Given the description of an element on the screen output the (x, y) to click on. 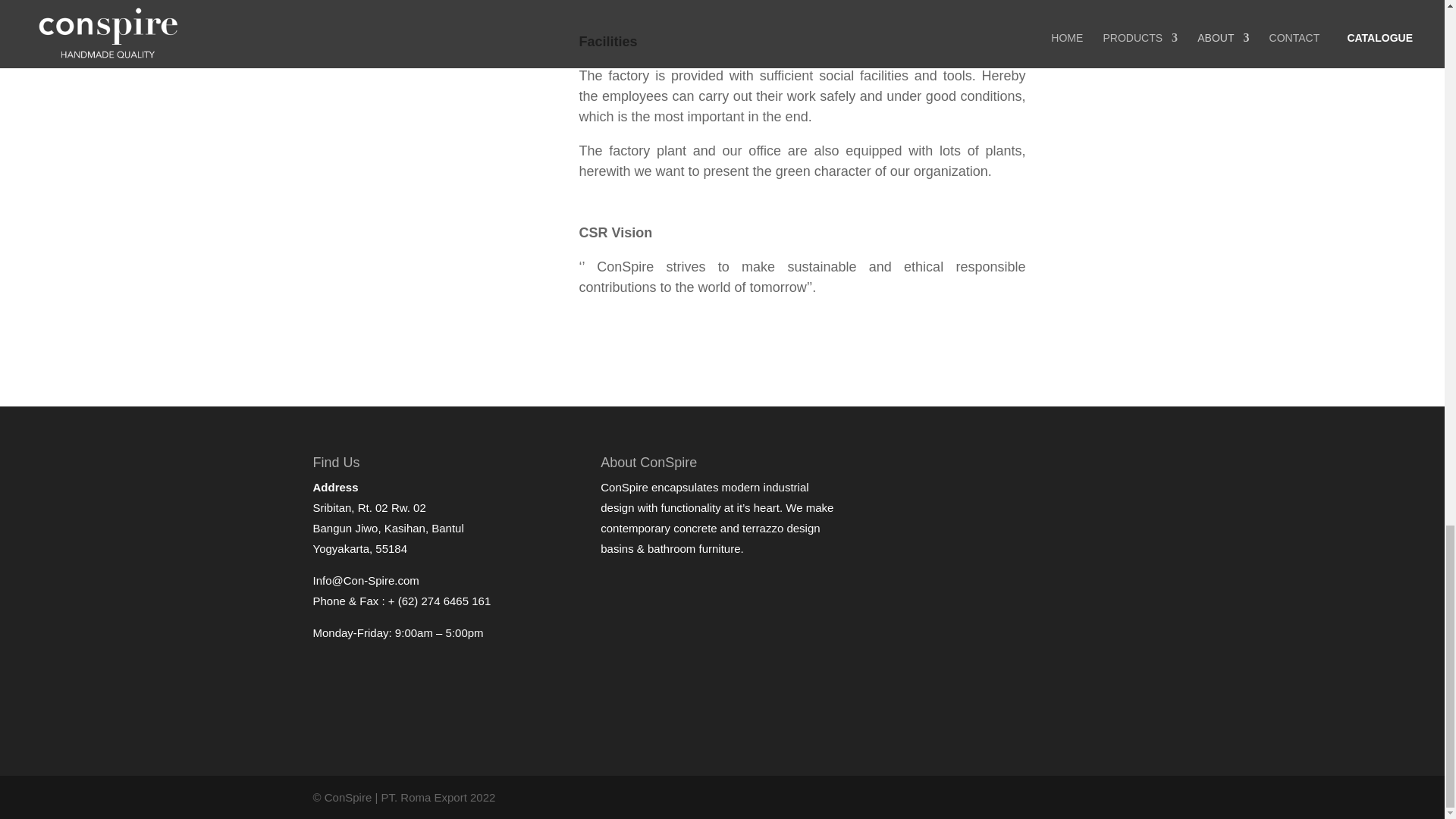
CSR Policy ConSpire (481, 262)
CSR Policy ConSpire (481, 71)
